Given the description of an element on the screen output the (x, y) to click on. 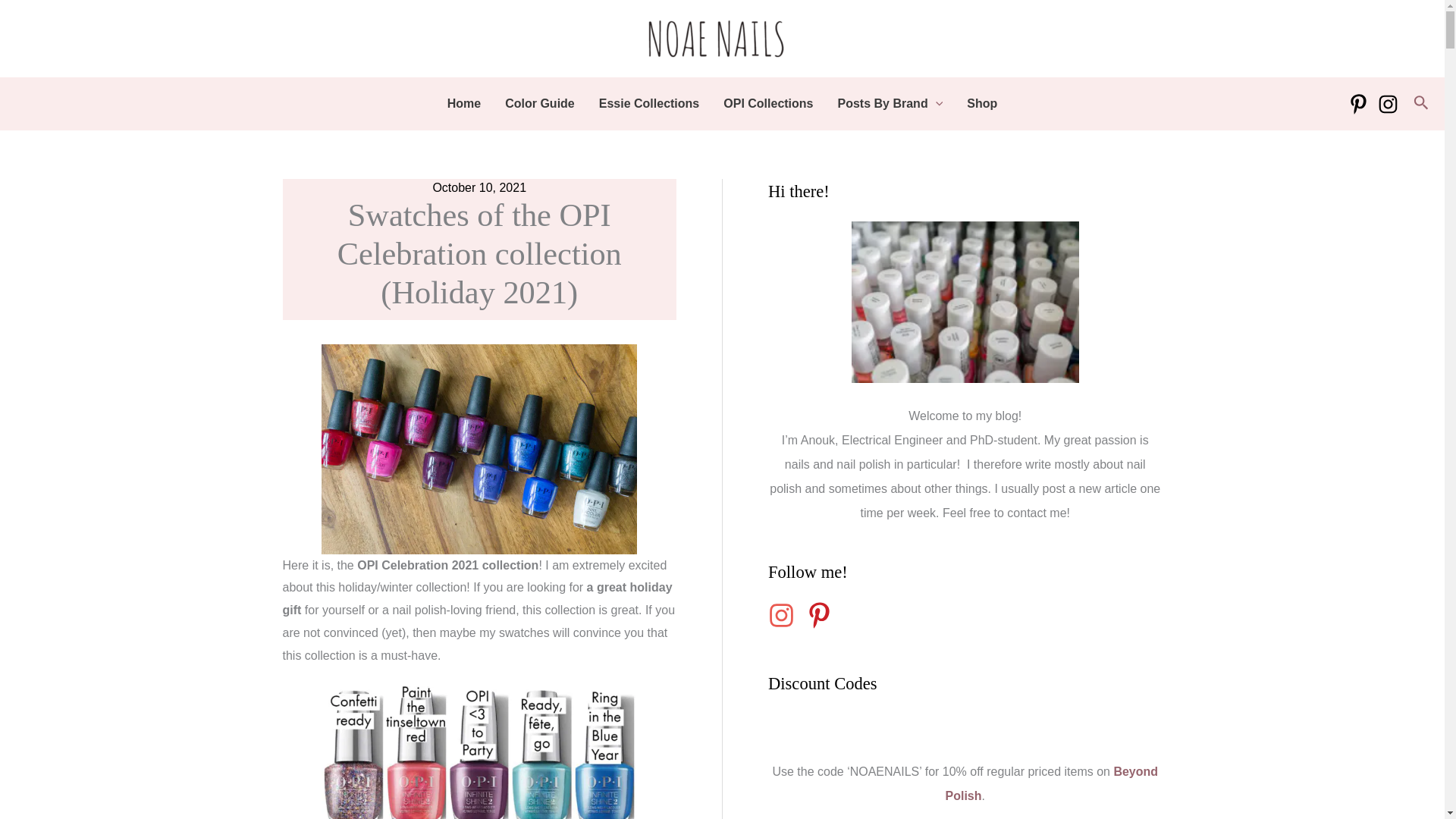
OPI Collections (768, 103)
Home (464, 103)
Shop (982, 103)
Color Guide (539, 103)
Posts By Brand (890, 103)
Essie Collections (648, 103)
